Given the description of an element on the screen output the (x, y) to click on. 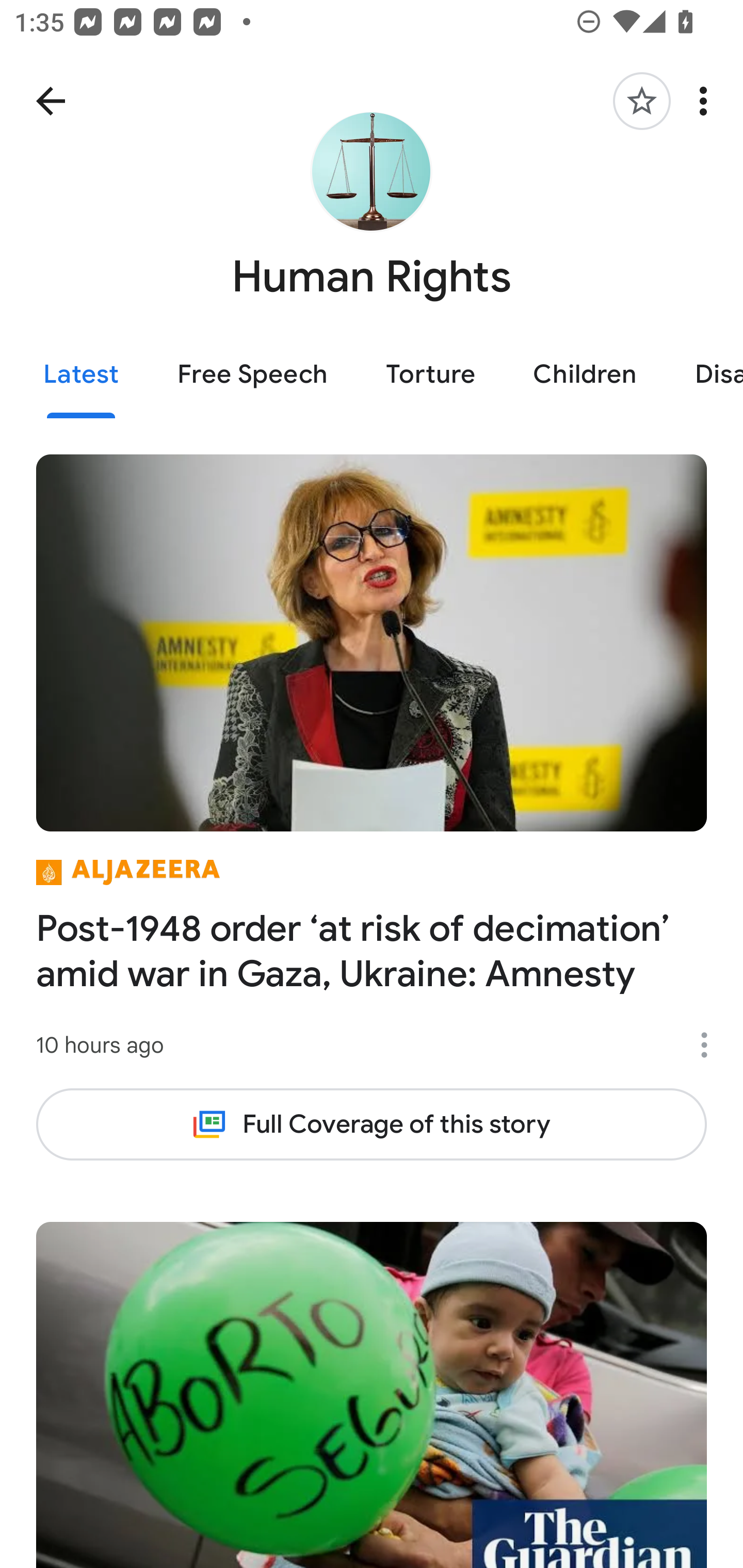
Navigate up (50, 101)
More options (706, 101)
Free Speech (251, 375)
Torture (429, 375)
Children (584, 375)
More options (711, 1044)
Full Coverage of this story (371, 1124)
